Given the description of an element on the screen output the (x, y) to click on. 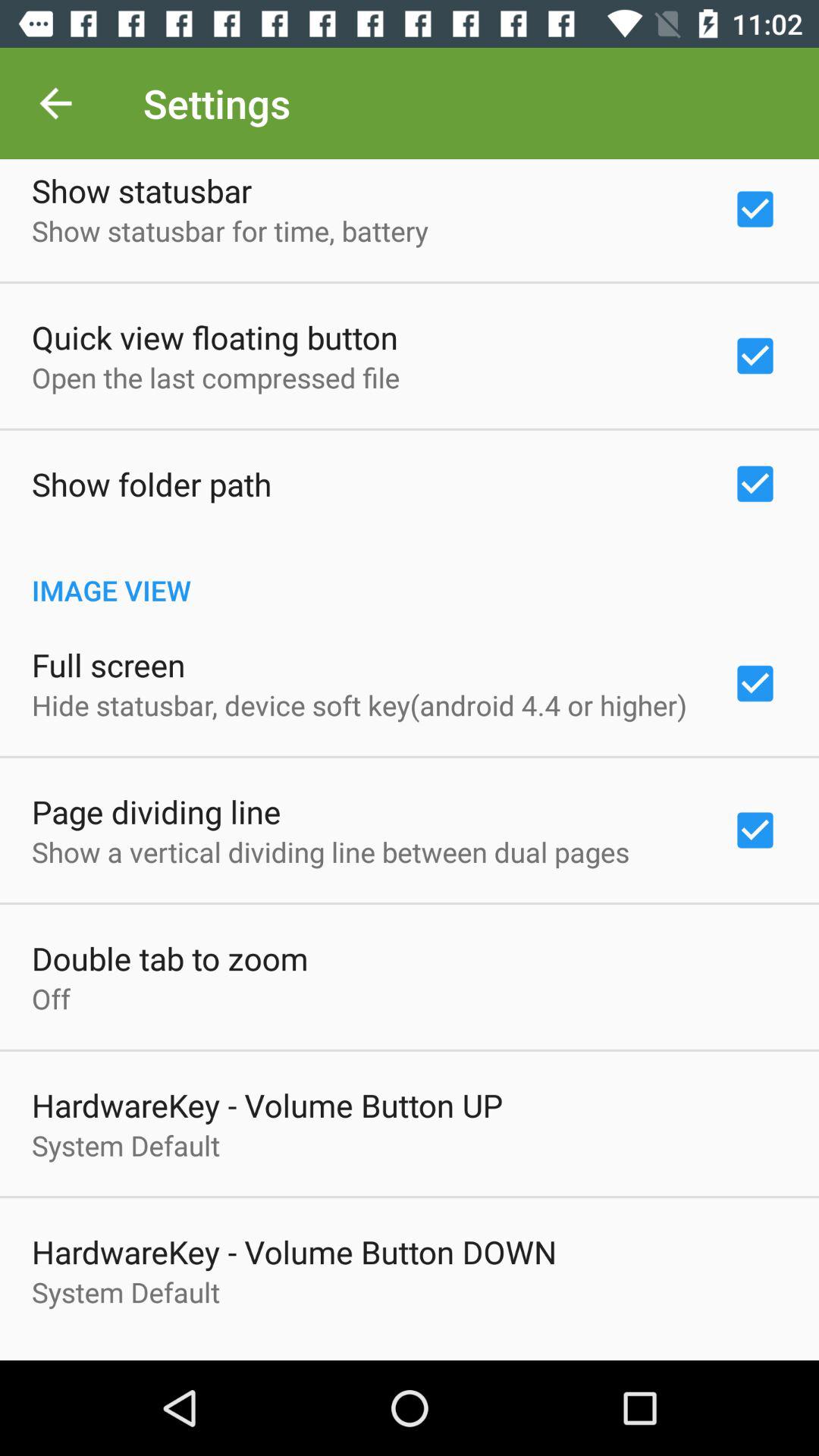
jump until the show a vertical icon (330, 851)
